Given the description of an element on the screen output the (x, y) to click on. 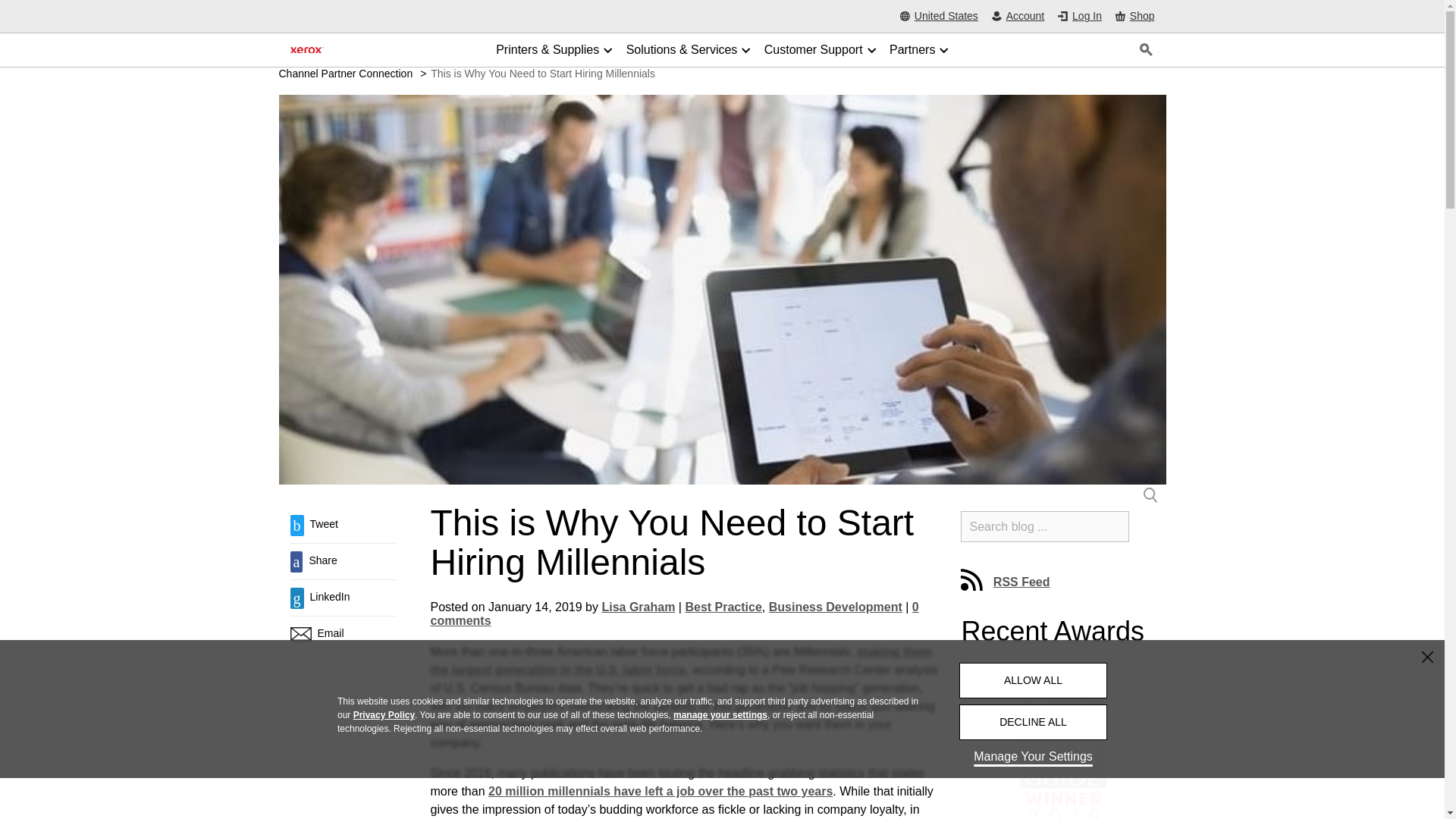
United States (938, 16)
Posts by Lisa Graham (638, 606)
Shop (1134, 16)
Account (1017, 16)
Log In (1080, 16)
